Given the description of an element on the screen output the (x, y) to click on. 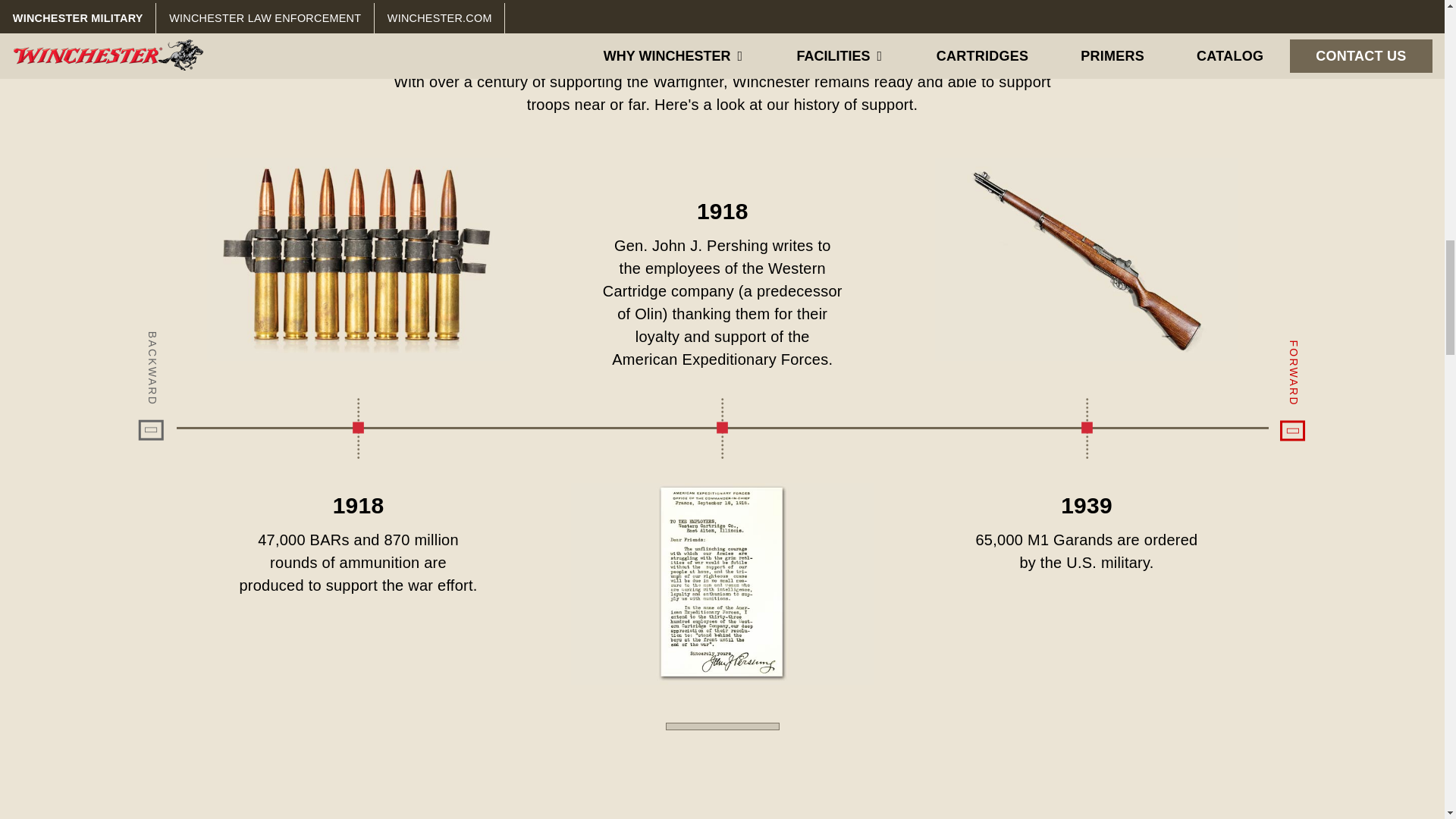
FORWARD (1336, 351)
BACKWARD (199, 343)
